Given the description of an element on the screen output the (x, y) to click on. 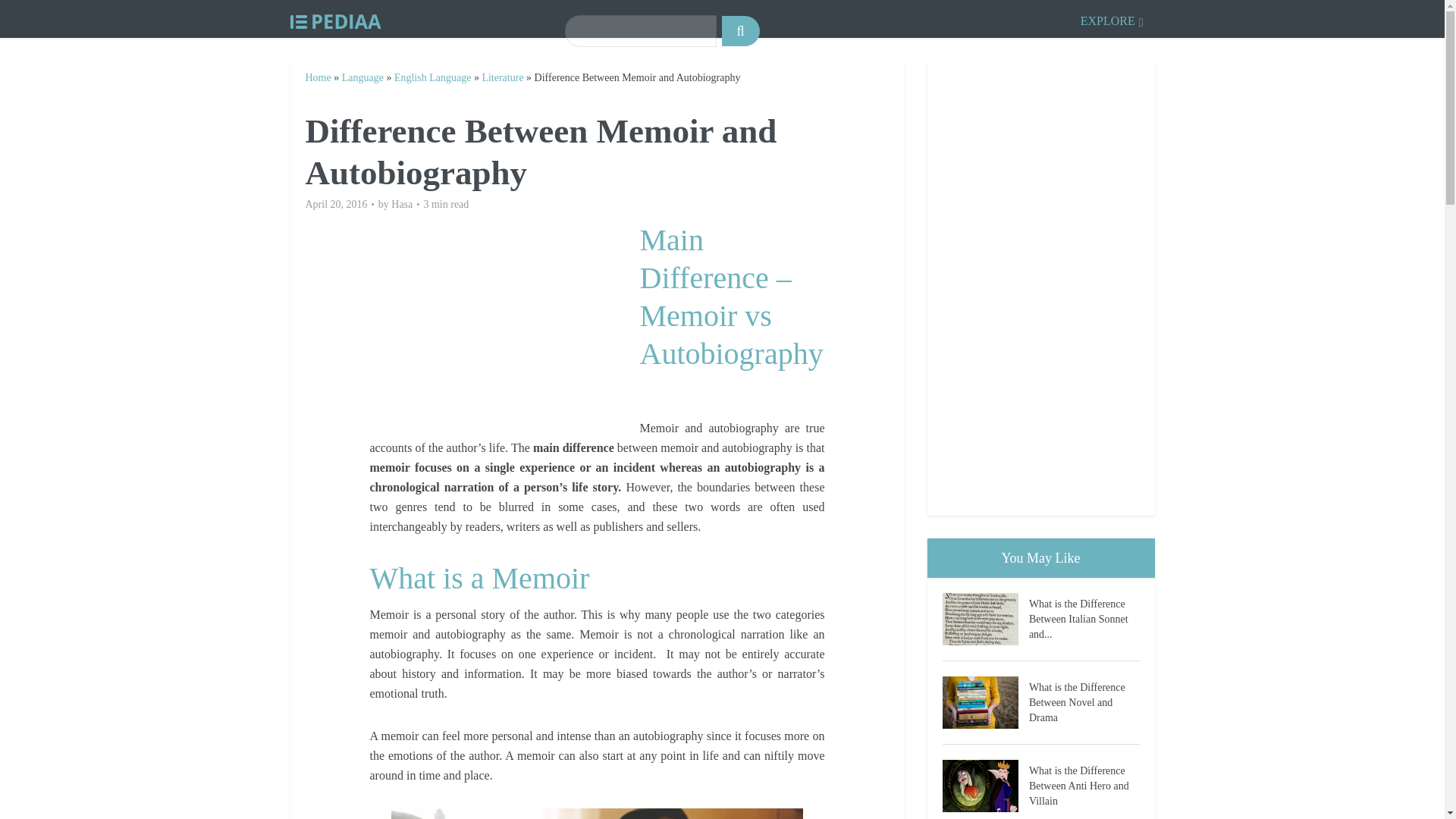
Home (317, 77)
EXPLORE (1111, 18)
Language (363, 77)
Advertisement (504, 327)
English Language (432, 77)
What is the Difference Between Anti Hero and Villain (984, 786)
Hasa (401, 204)
Literature (501, 77)
